Given the description of an element on the screen output the (x, y) to click on. 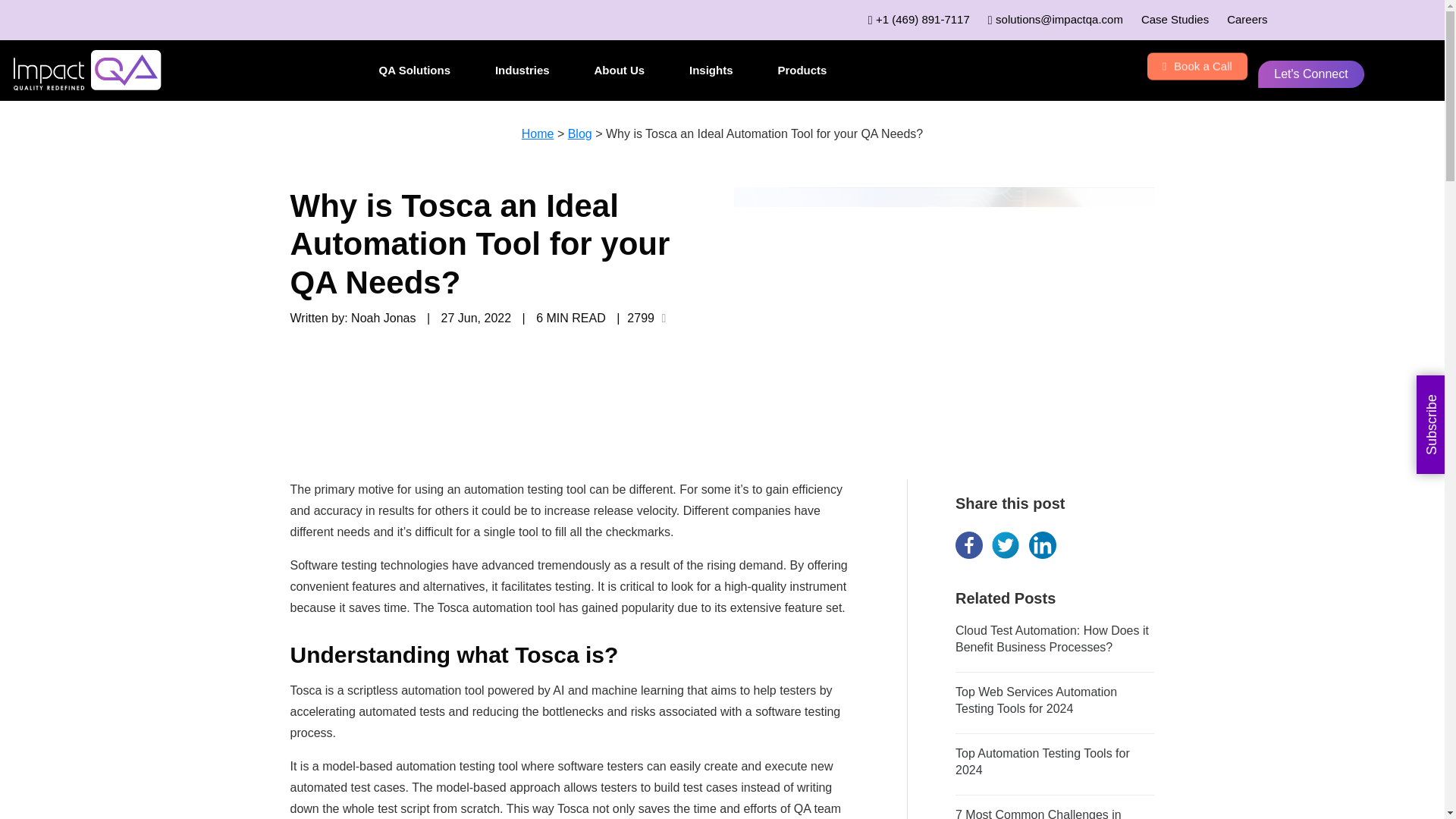
Careers (1246, 19)
QA Solutions (414, 70)
Industries (522, 70)
Case Studies (1174, 19)
Let's Connect (1309, 73)
Book a Call (1197, 66)
